Given the description of an element on the screen output the (x, y) to click on. 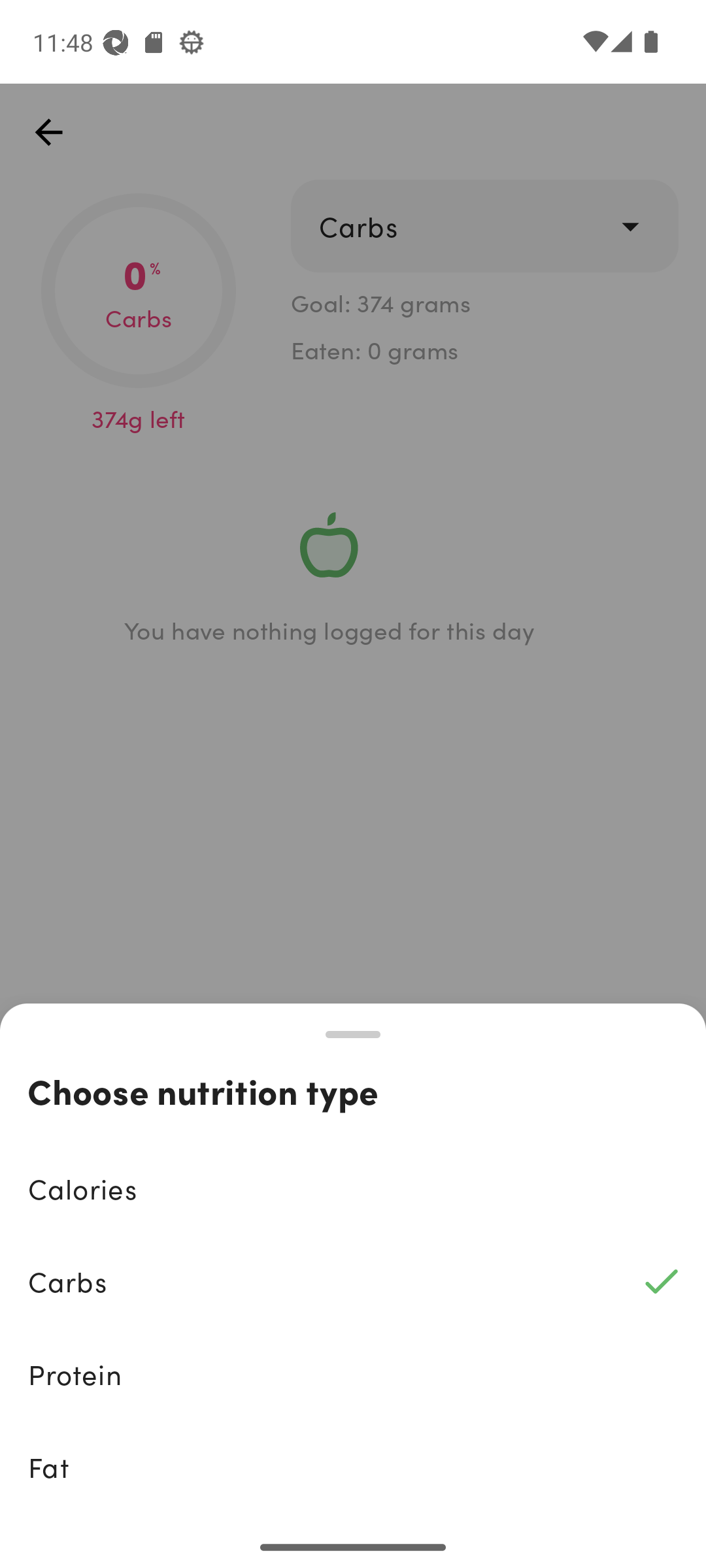
bottom_sheet_option Fat bottom_sheet_option_text (353, 1466)
